Given the description of an element on the screen output the (x, y) to click on. 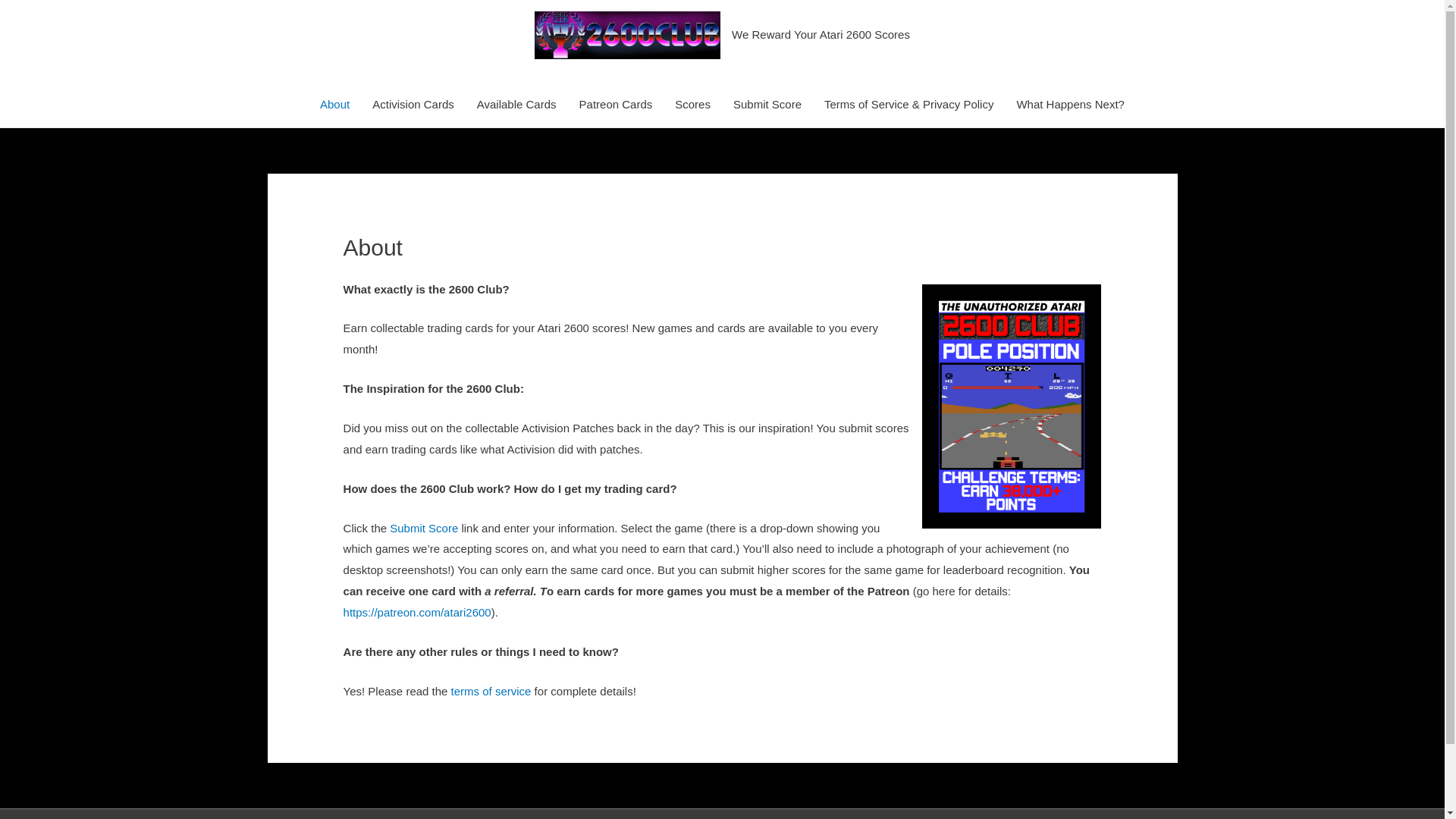
Submit Score Element type: text (766, 104)
Submit Score Element type: text (423, 527)
terms of service Element type: text (491, 690)
Available Cards Element type: text (516, 104)
https://patreon.com/atari2600 Element type: text (417, 611)
About Element type: text (334, 104)
What Happens Next? Element type: text (1069, 104)
Activision Cards Element type: text (412, 104)
Scores Element type: text (692, 104)
Patreon Cards Element type: text (615, 104)
Terms of Service & Privacy Policy Element type: text (908, 104)
